Given the description of an element on the screen output the (x, y) to click on. 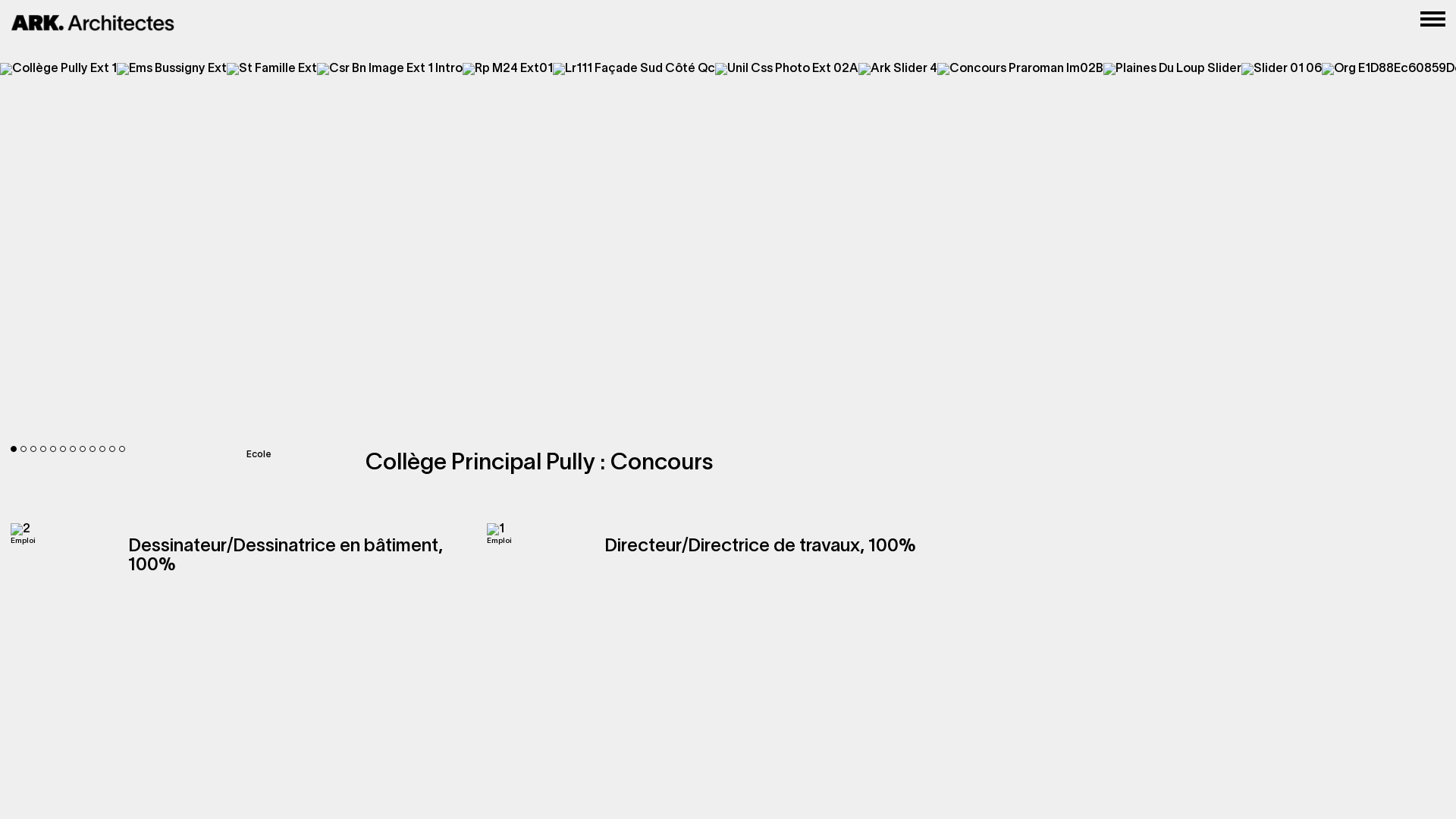
11 Element type: text (112, 448)
5 Element type: text (53, 448)
4 Element type: text (43, 448)
6 Element type: text (62, 448)
9 Element type: text (92, 448)
10 Element type: text (102, 448)
1 Element type: text (13, 448)
12 Element type: text (122, 448)
7 Element type: text (72, 448)
Emploi
Directeur/Directrice de travaux, 100% Element type: text (719, 529)
8 Element type: text (82, 448)
2 Element type: text (23, 448)
3 Element type: text (33, 448)
